Given the description of an element on the screen output the (x, y) to click on. 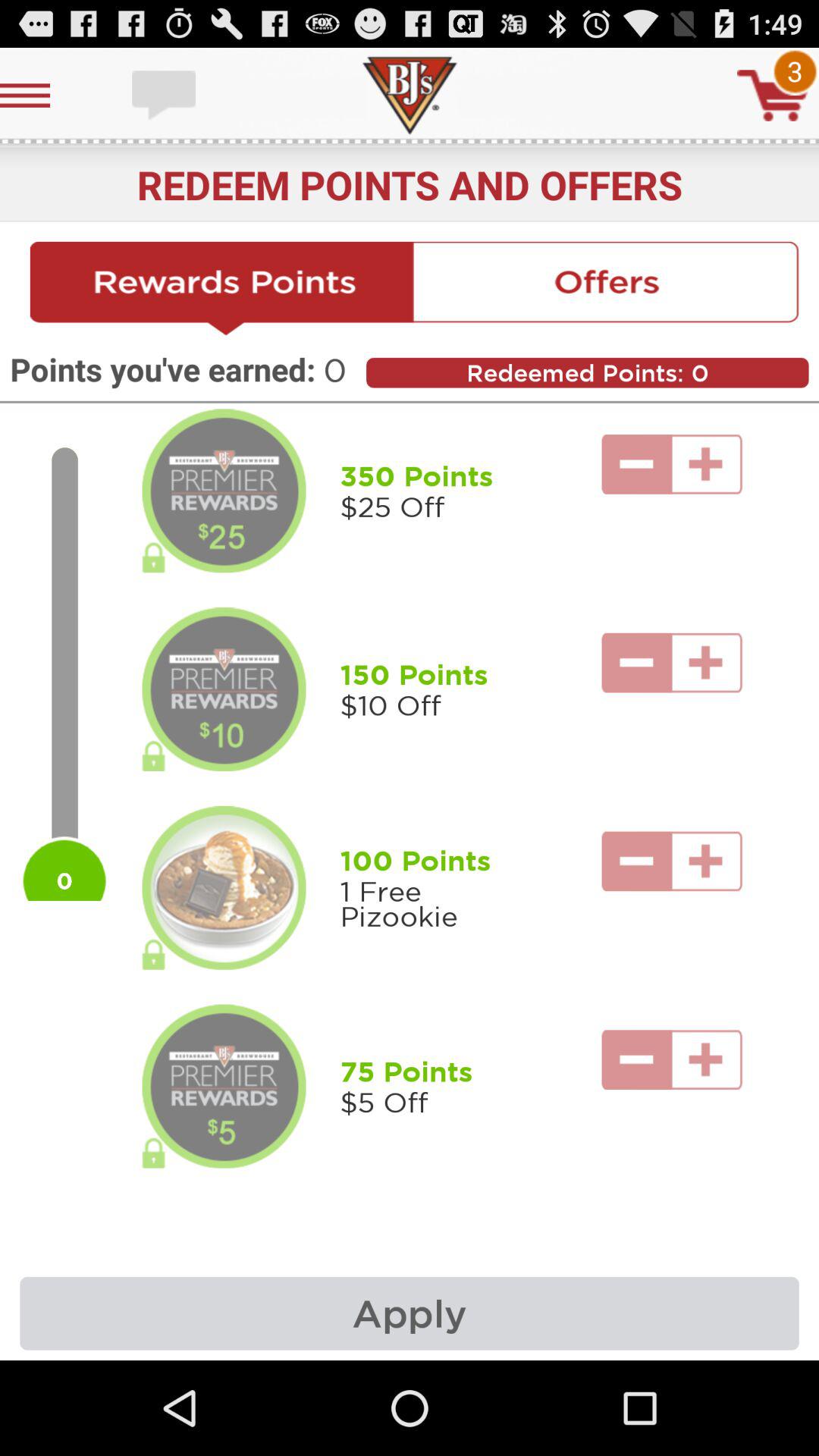
icon to open reward (223, 689)
